Given the description of an element on the screen output the (x, y) to click on. 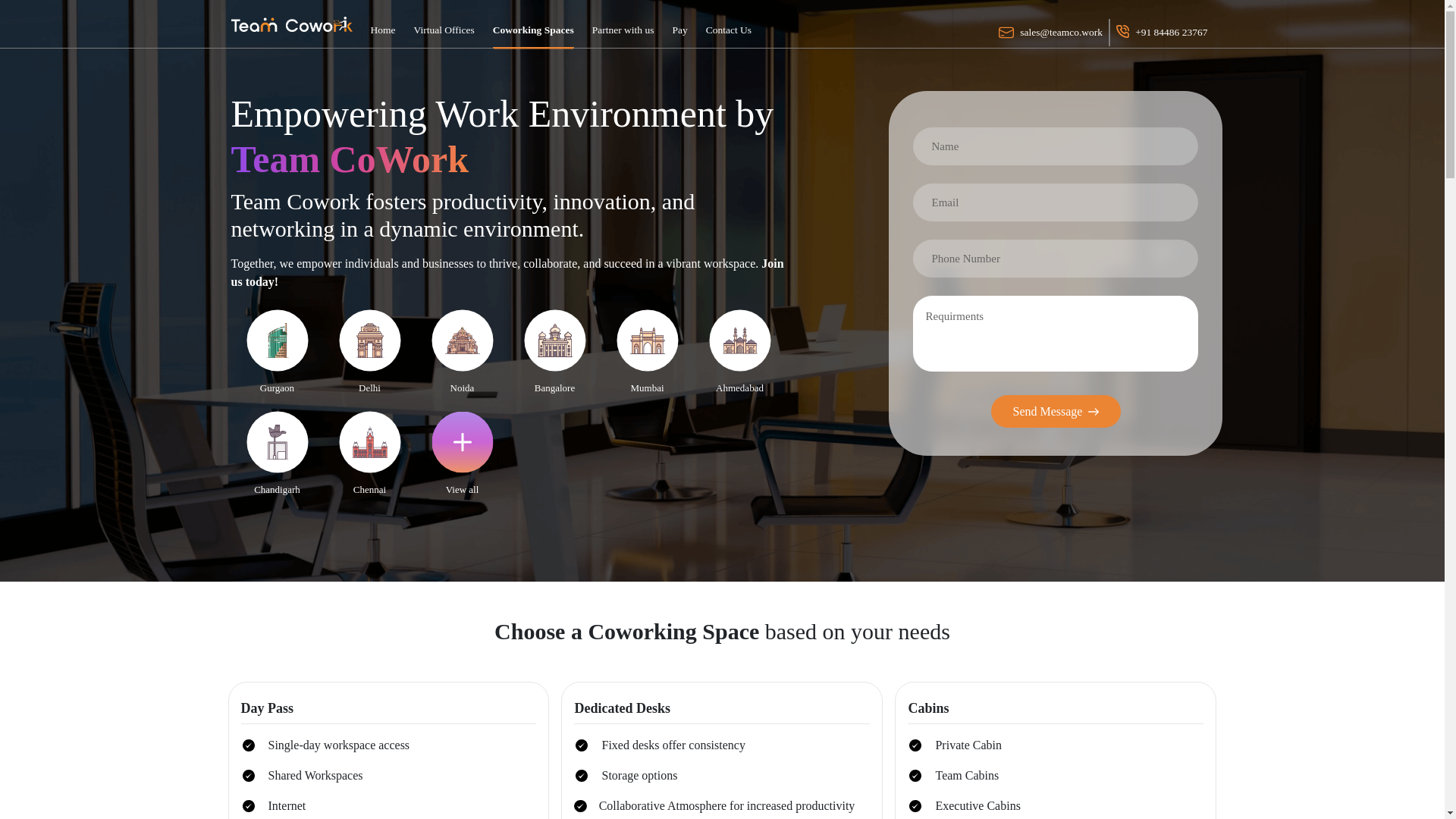
Partner with us (622, 23)
Virtual Offices (443, 23)
Coworking Spaces (533, 23)
Contact Us (728, 23)
Send Message (1056, 405)
